Given the description of an element on the screen output the (x, y) to click on. 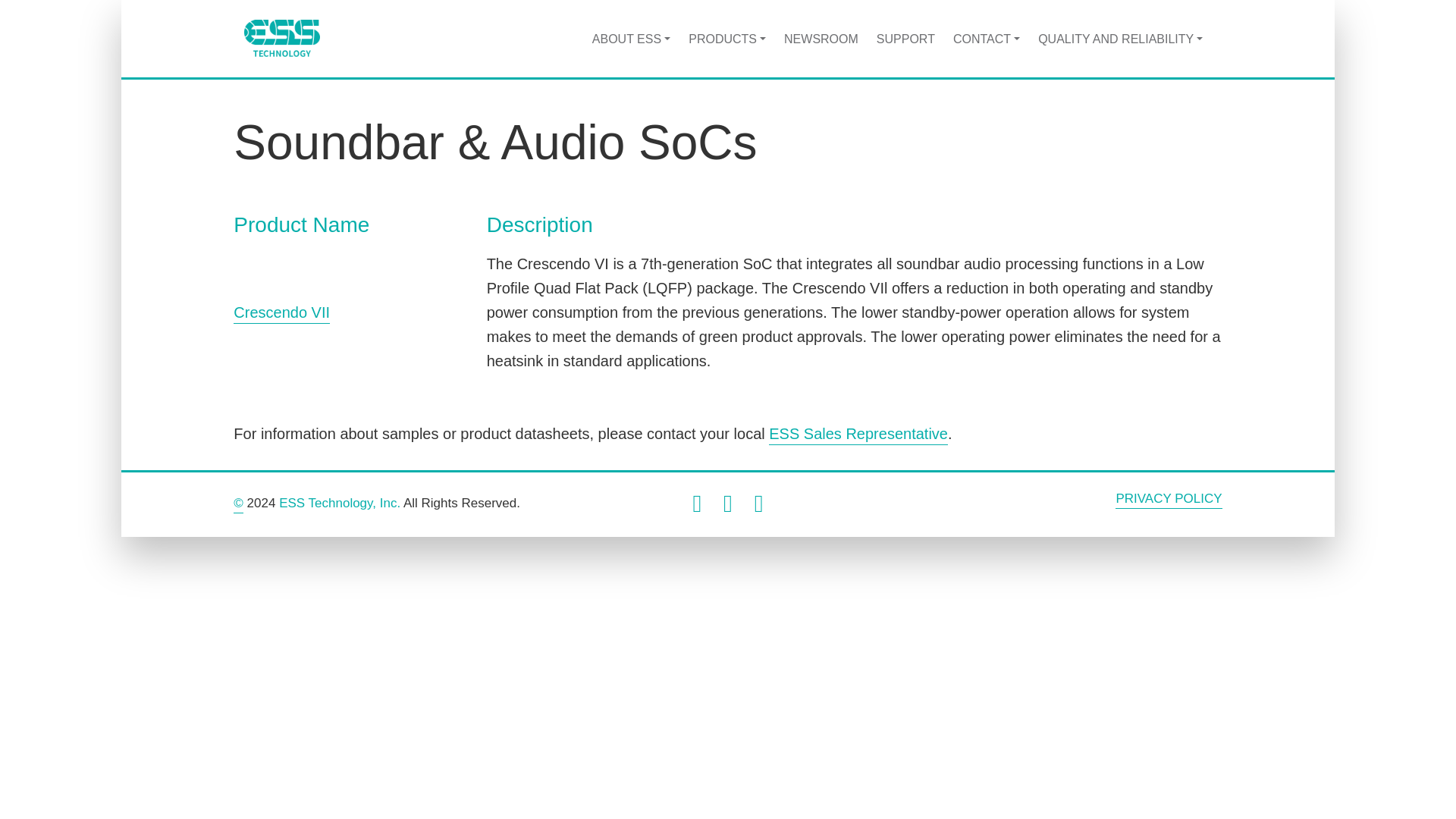
Newsroom (820, 38)
About ESS (631, 38)
ESS Sales Representative (857, 435)
NEWSROOM (820, 38)
CONTACT (986, 38)
ESS Technology, Inc. (339, 503)
Crescendo VII (281, 313)
SUPPORT (905, 38)
ABOUT ESS (631, 38)
Support (905, 38)
Products (726, 38)
PRIVACY POLICY (1168, 499)
PRODUCTS (726, 38)
QUALITY AND RELIABILITY (1120, 38)
